Given the description of an element on the screen output the (x, y) to click on. 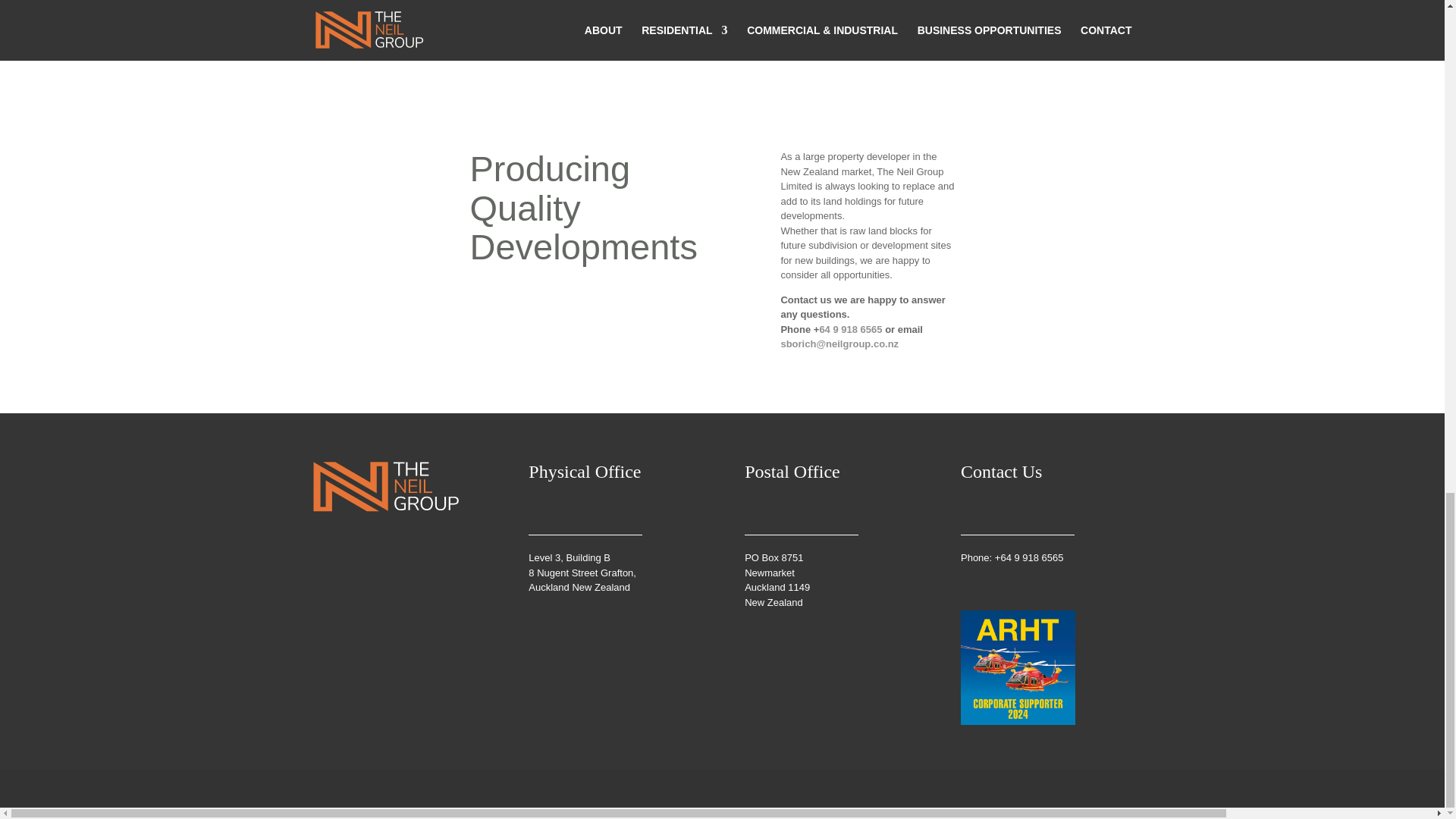
64 9 918 6565 (850, 328)
